Given the description of an element on the screen output the (x, y) to click on. 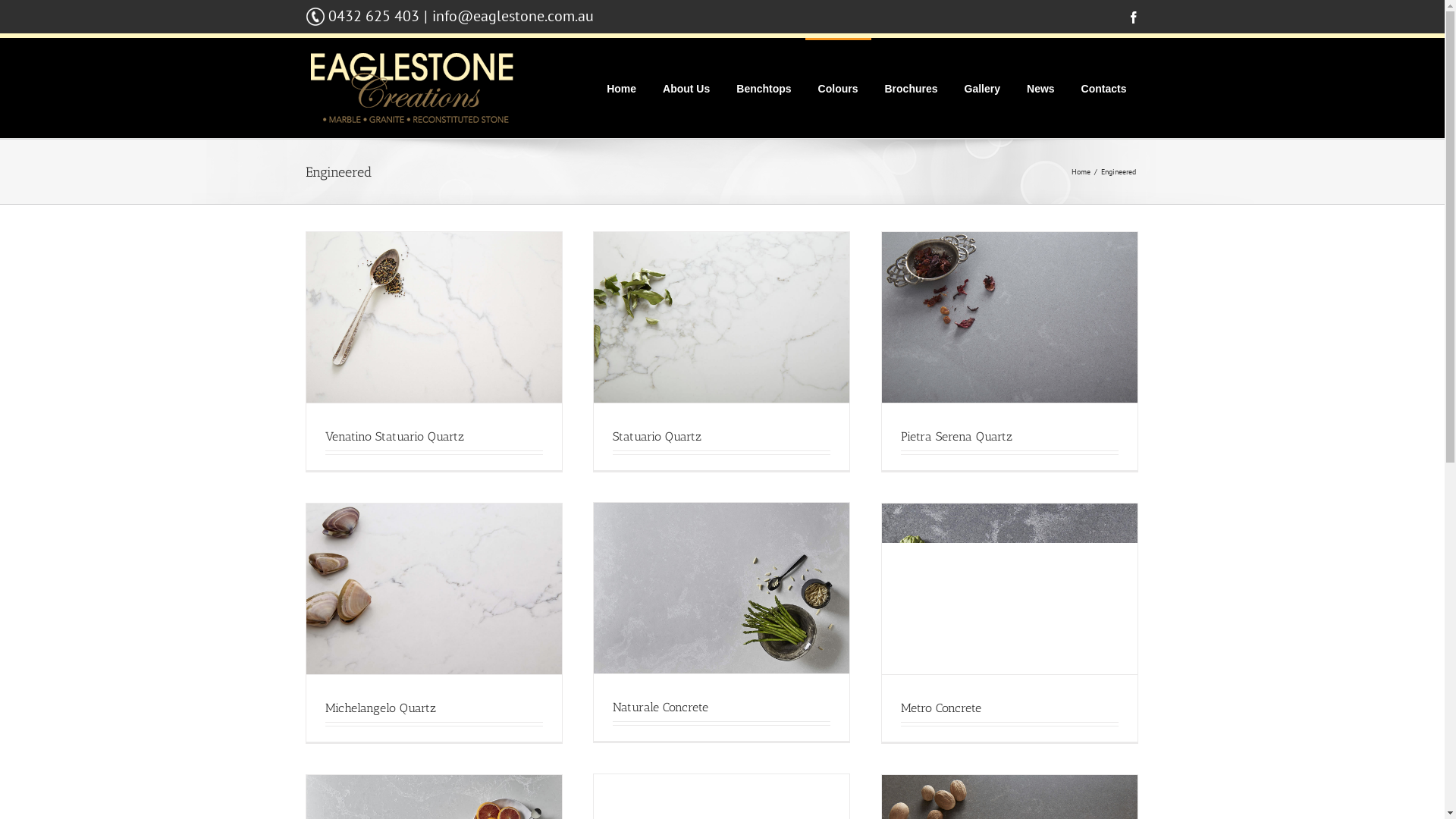
About Us Element type: text (685, 87)
Michelangelo Quartz Element type: text (379, 707)
info@eaglestone.com.au Element type: text (512, 15)
Statuario Quartz Element type: text (656, 436)
Venatino Statuario Quartz Element type: text (393, 436)
Engineered Element type: text (1120, 171)
Colours Element type: text (838, 87)
Gallery Element type: text (982, 87)
Naturale Concrete Element type: text (660, 706)
Metro Concrete Element type: text (940, 707)
Home Element type: text (621, 87)
Pietra Serena Quartz Element type: text (956, 436)
Contacts Element type: text (1103, 87)
News Element type: text (1040, 87)
Brochures Element type: text (911, 87)
Home Element type: text (1081, 171)
Facebook Element type: hover (1132, 17)
Benchtops Element type: text (763, 87)
0432 625 403 Element type: text (372, 15)
